Given the description of an element on the screen output the (x, y) to click on. 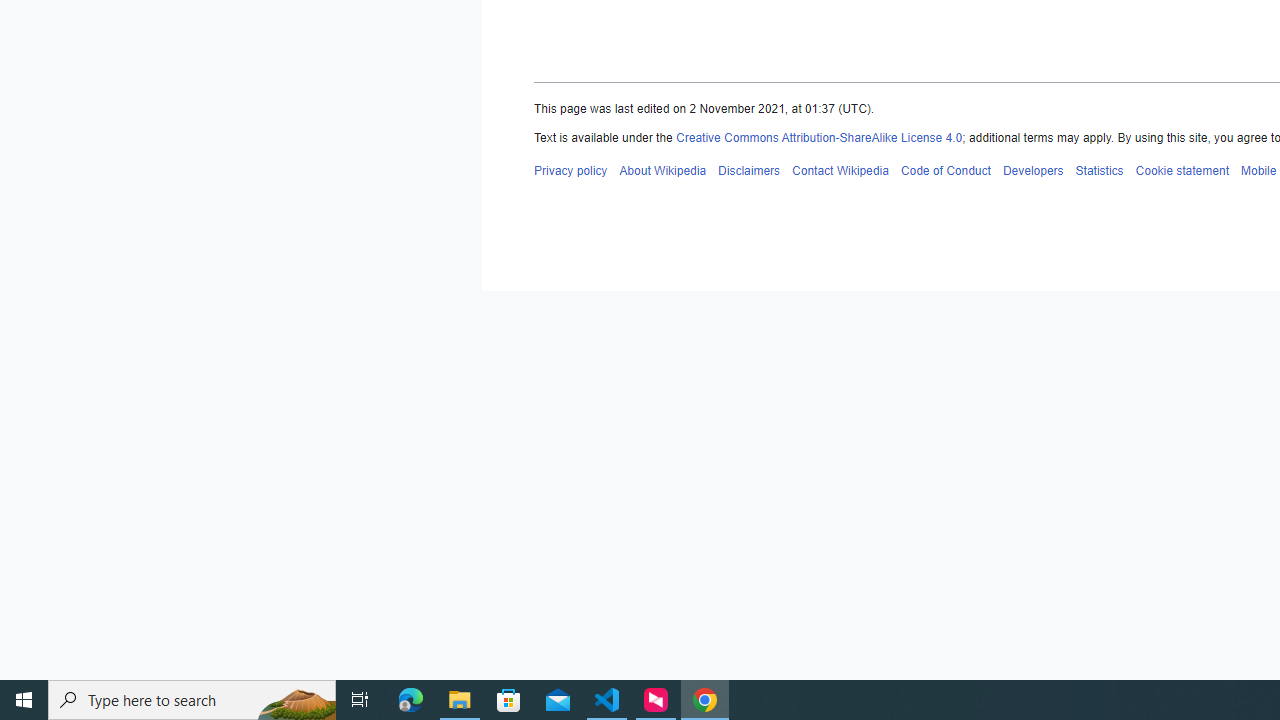
AutomationID: footer-places-statslink (1099, 169)
AutomationID: footer-places-developers (1032, 169)
AutomationID: footer-places-contact (840, 169)
Code of Conduct (944, 169)
Disclaimers (749, 169)
Developers (1032, 169)
AutomationID: footer-places-privacy (570, 169)
AutomationID: footer-places-disclaimers (749, 169)
AutomationID: footer-places-about (662, 169)
AutomationID: footer-places-cookiestatement (1181, 169)
AutomationID: footer-places-wm-codeofconduct (944, 169)
About Wikipedia (662, 169)
Cookie statement (1181, 169)
Privacy policy (570, 169)
Contact Wikipedia (840, 169)
